Given the description of an element on the screen output the (x, y) to click on. 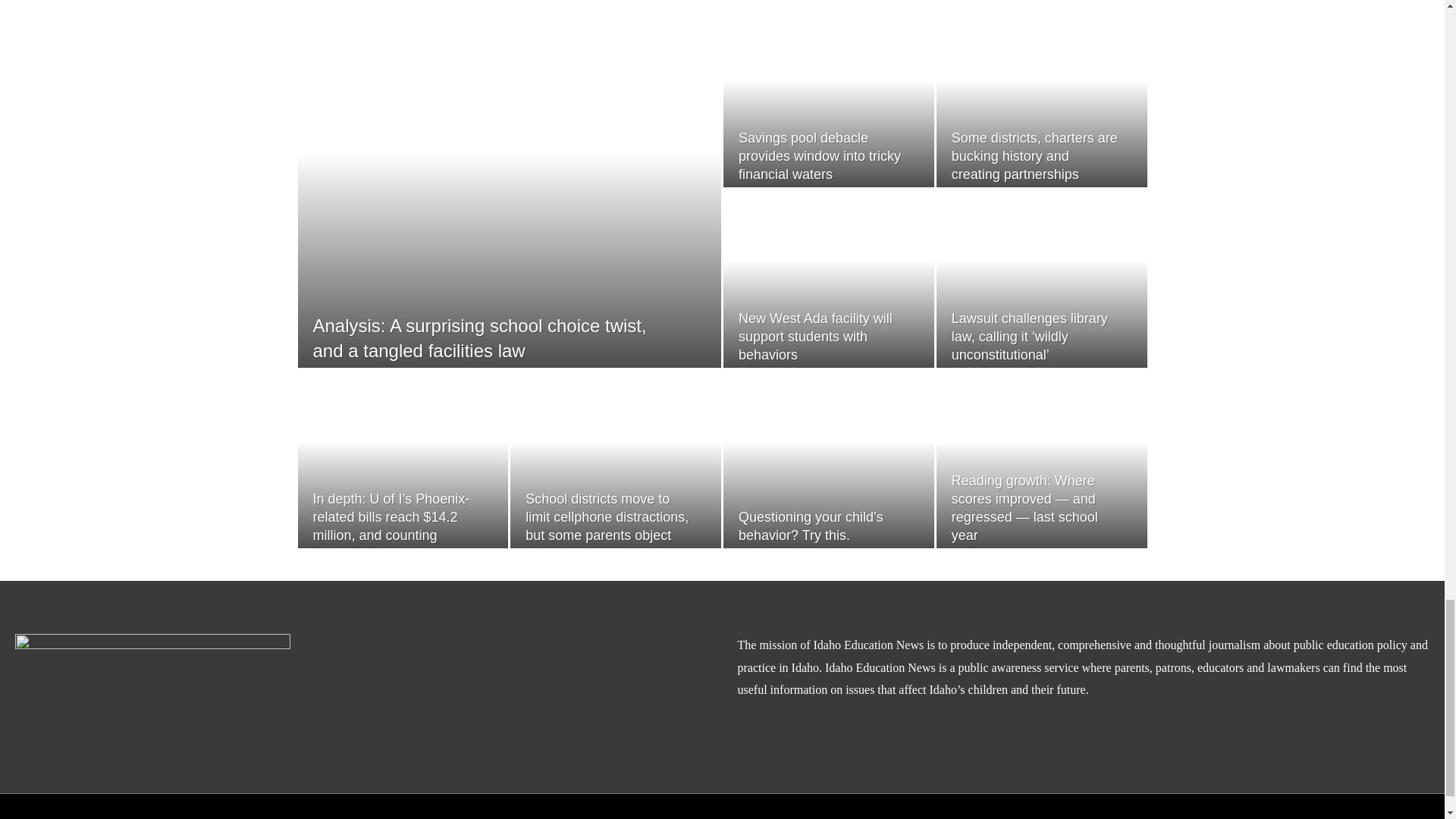
New West Ada facility will support students with behaviors (815, 336)
